Given the description of an element on the screen output the (x, y) to click on. 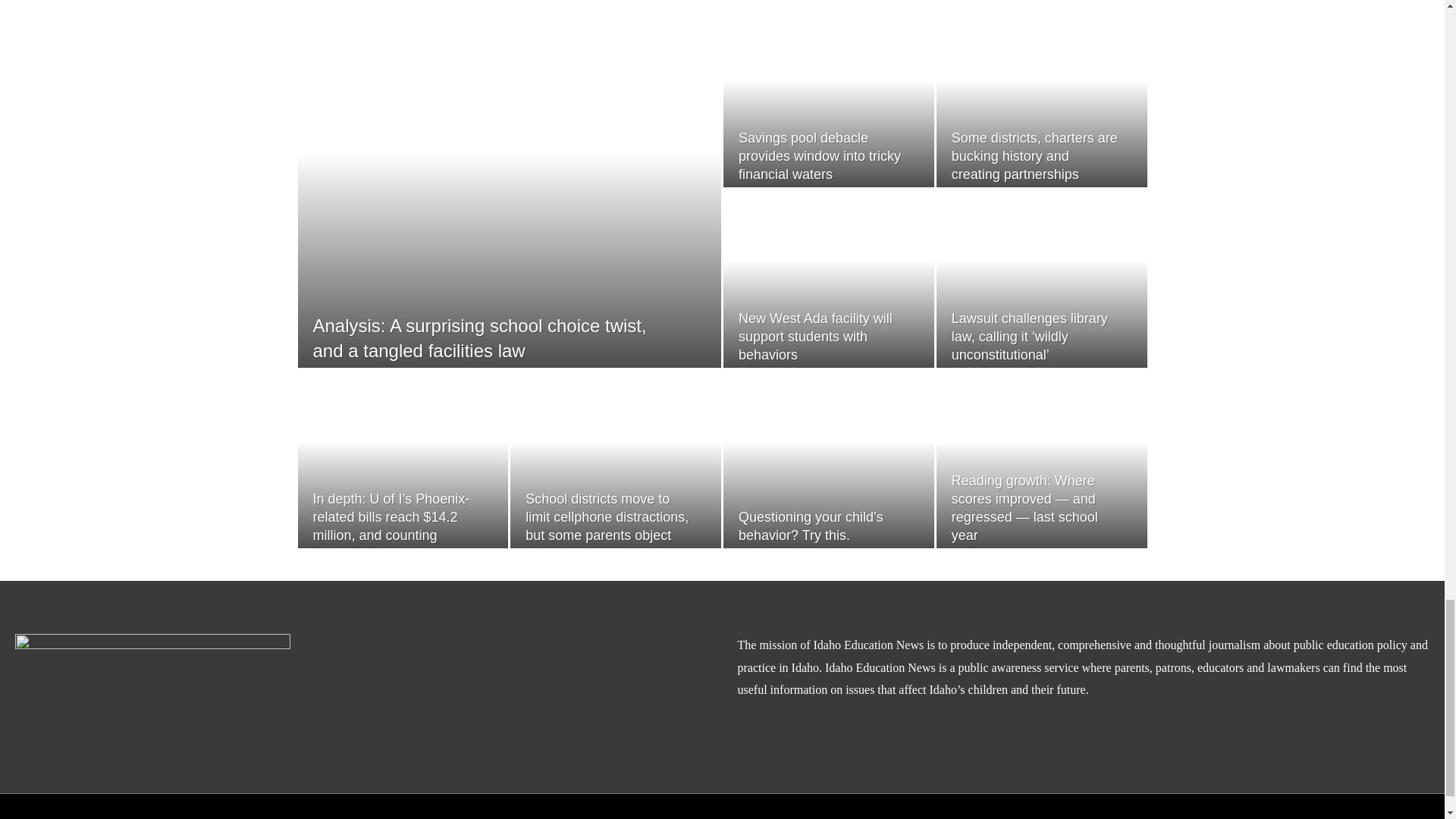
New West Ada facility will support students with behaviors (815, 336)
